Given the description of an element on the screen output the (x, y) to click on. 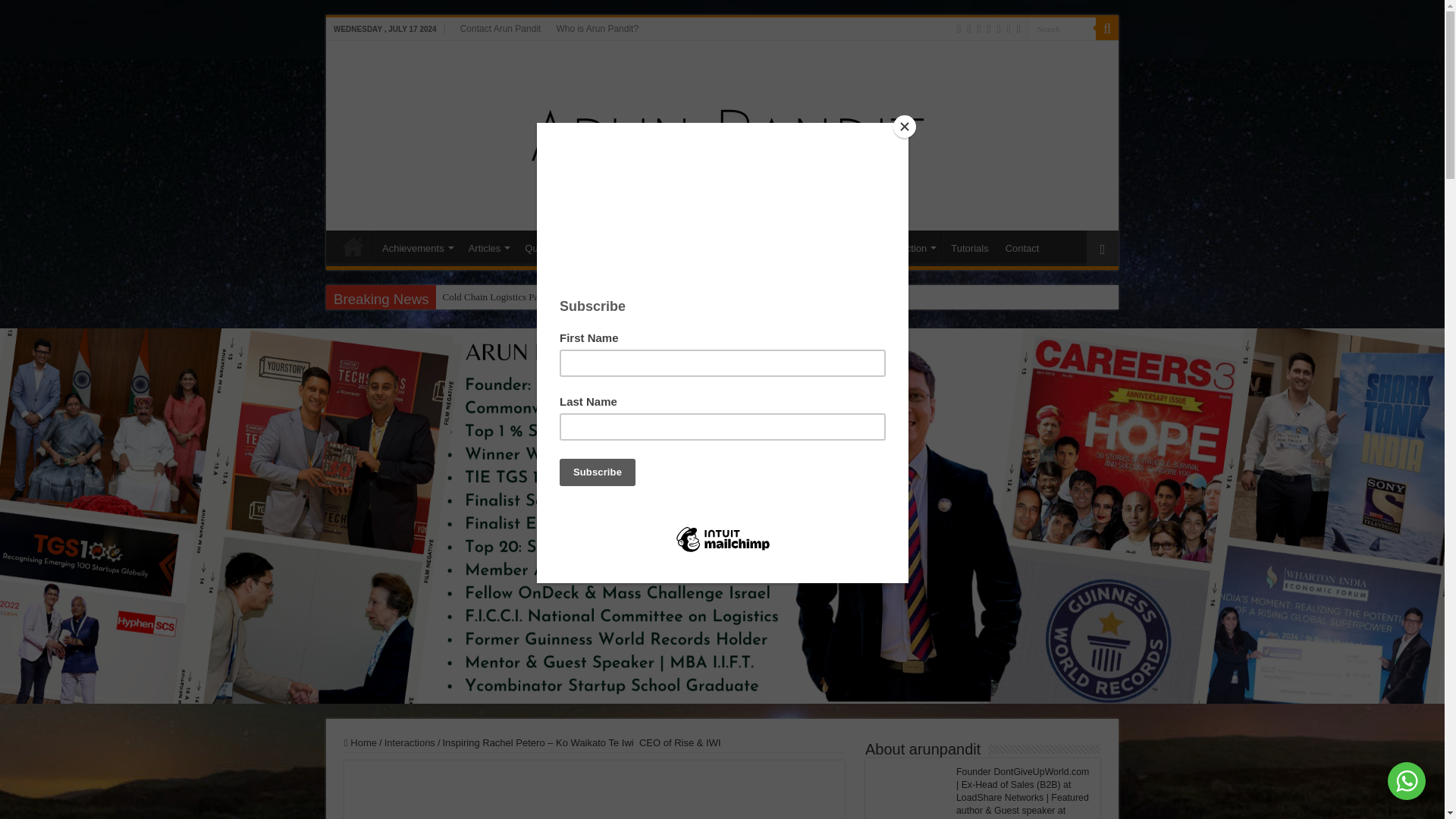
Who is Arun Pandit? (597, 28)
Search (1061, 28)
Achievements (417, 246)
Search (1061, 28)
Facebook (968, 29)
Youtube (999, 29)
LinkedIn (988, 29)
Twitter (978, 29)
instagram (1008, 29)
Search (1061, 28)
Search (1107, 28)
Rss (958, 29)
Contact Arun Pandit (500, 28)
Home (352, 246)
